Given the description of an element on the screen output the (x, y) to click on. 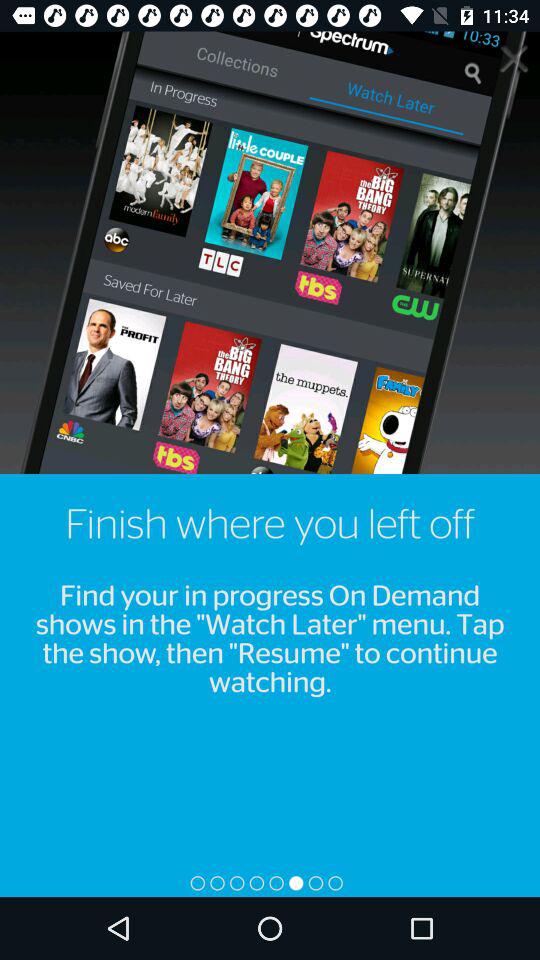
close info panel button (513, 57)
